Given the description of an element on the screen output the (x, y) to click on. 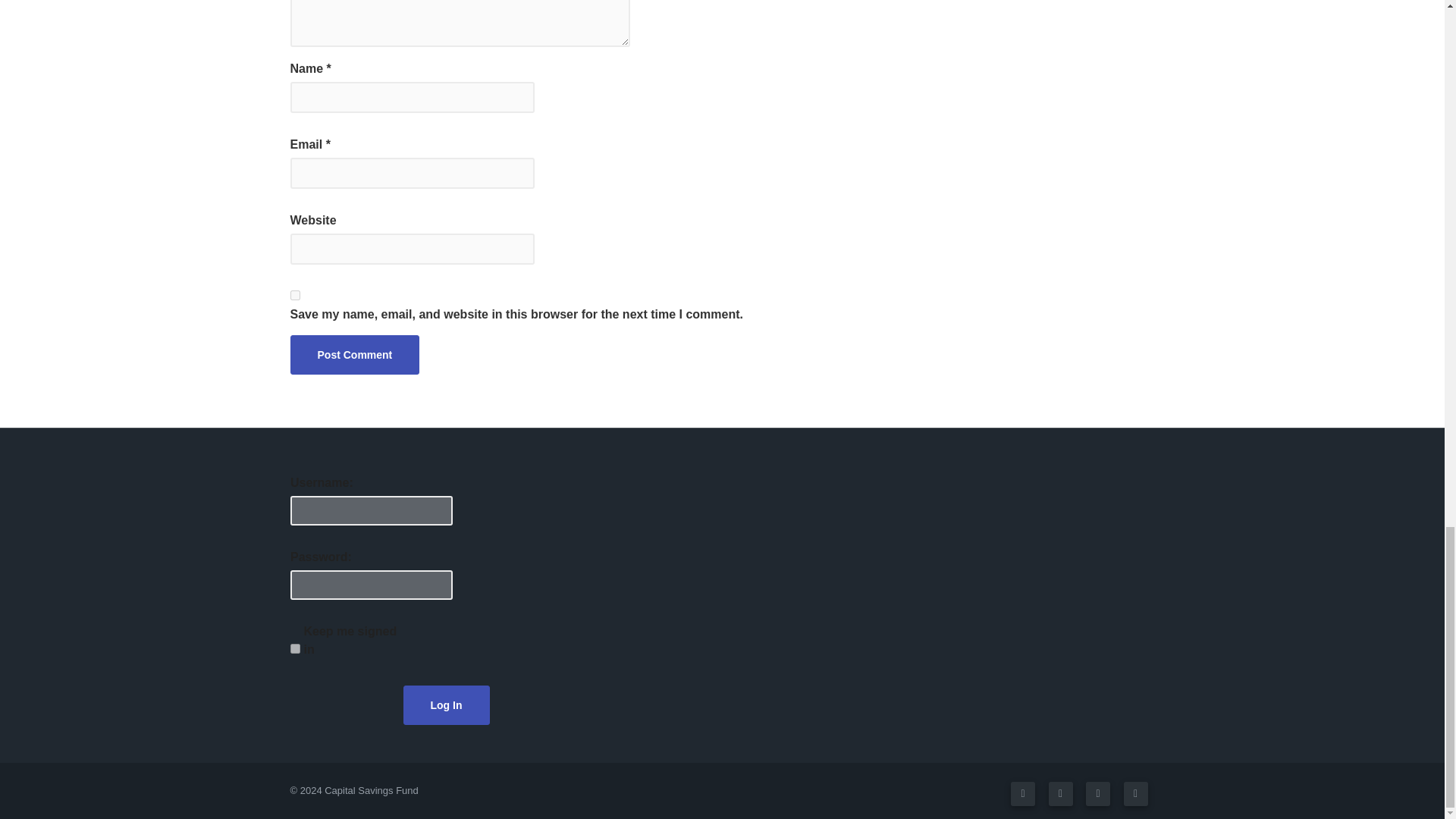
yes (294, 295)
Post Comment (354, 354)
forever (294, 648)
Log In (446, 704)
Post Comment (354, 354)
